Given the description of an element on the screen output the (x, y) to click on. 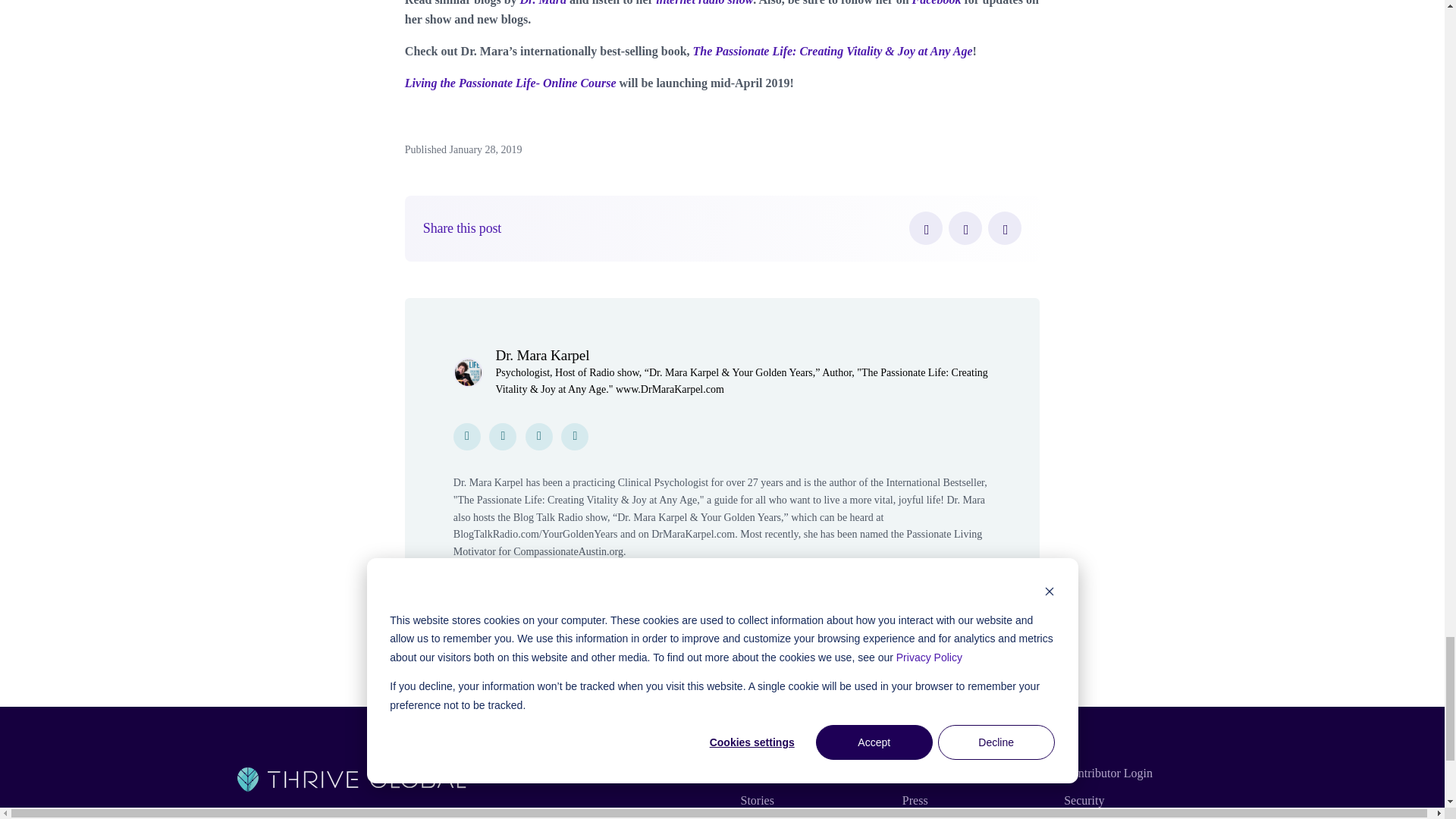
Twitter (965, 227)
Facebook (925, 227)
Dr. Mara Karpel (542, 355)
LinkedIn (1005, 227)
